Given the description of an element on the screen output the (x, y) to click on. 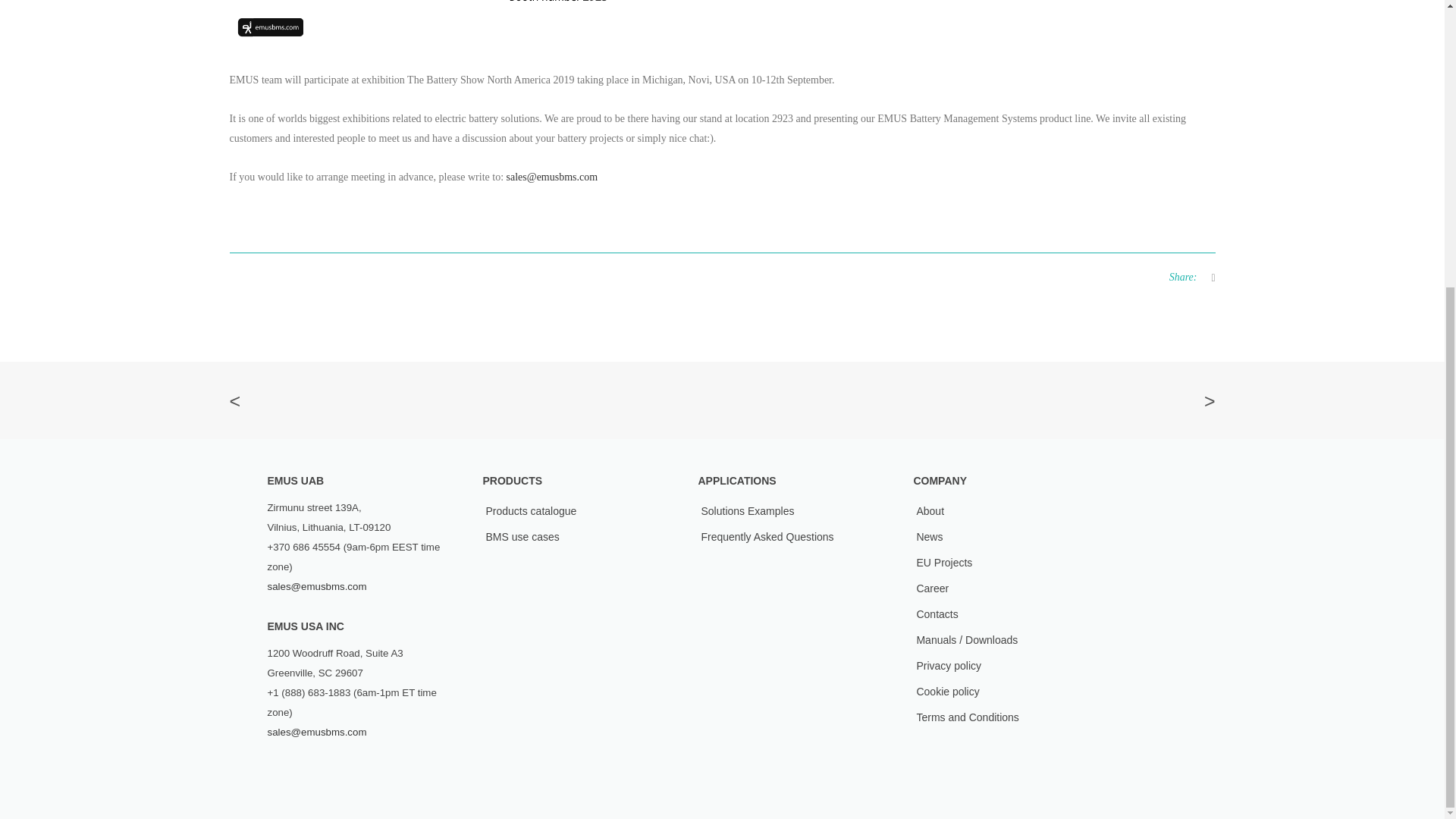
Products catalogue (530, 510)
Facebook (269, 765)
BMS use cases (521, 536)
LinkedIn (302, 765)
